Given the description of an element on the screen output the (x, y) to click on. 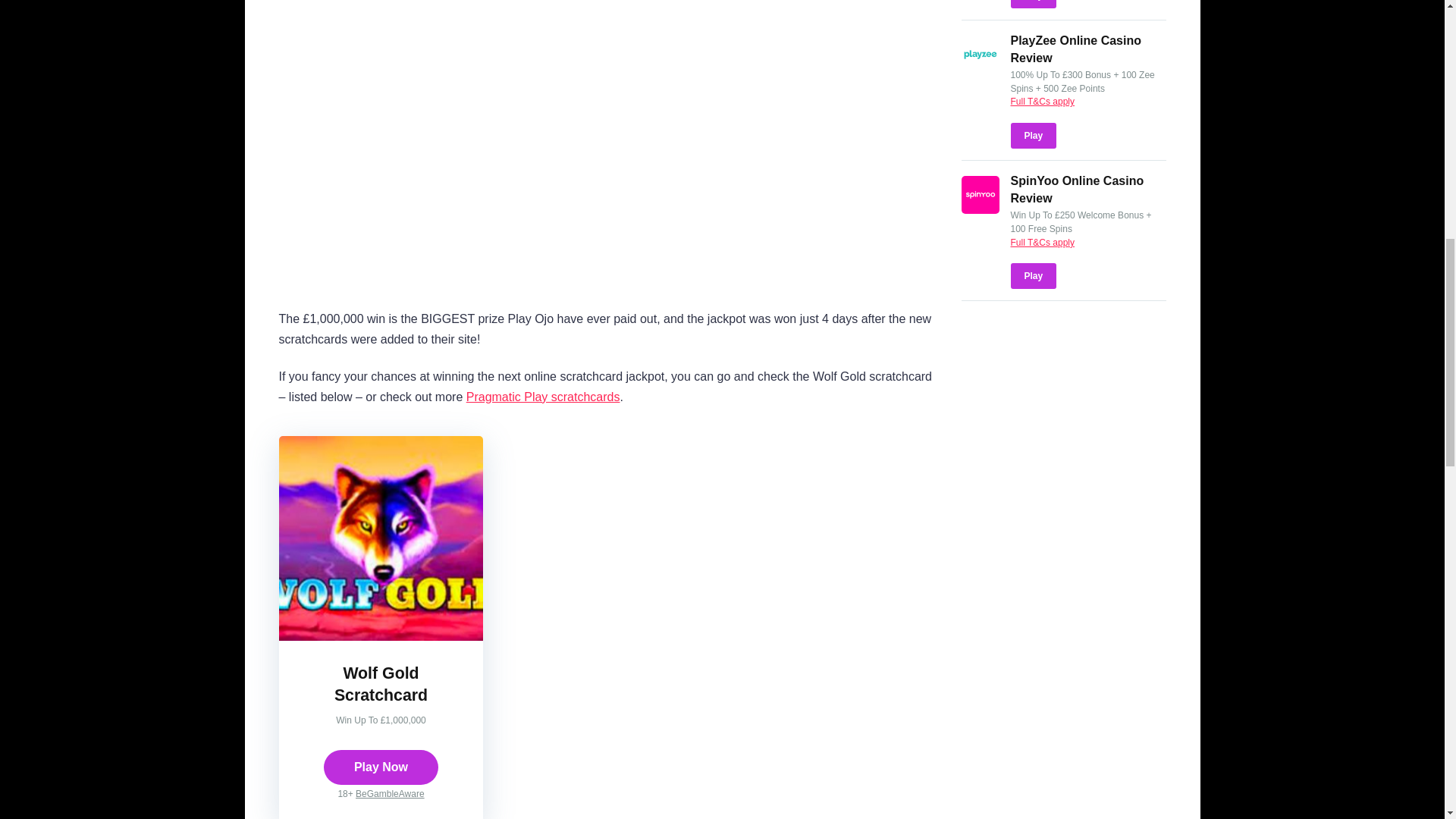
Wolf Gold Scratchcard (381, 683)
Wolf Gold Scratchcard (381, 683)
BeGambleAware (390, 793)
Play Now (380, 767)
Pragmatic Play scratchcards (542, 396)
Wolf Gold Scratchcard (381, 635)
Play Now (380, 767)
